Given the description of an element on the screen output the (x, y) to click on. 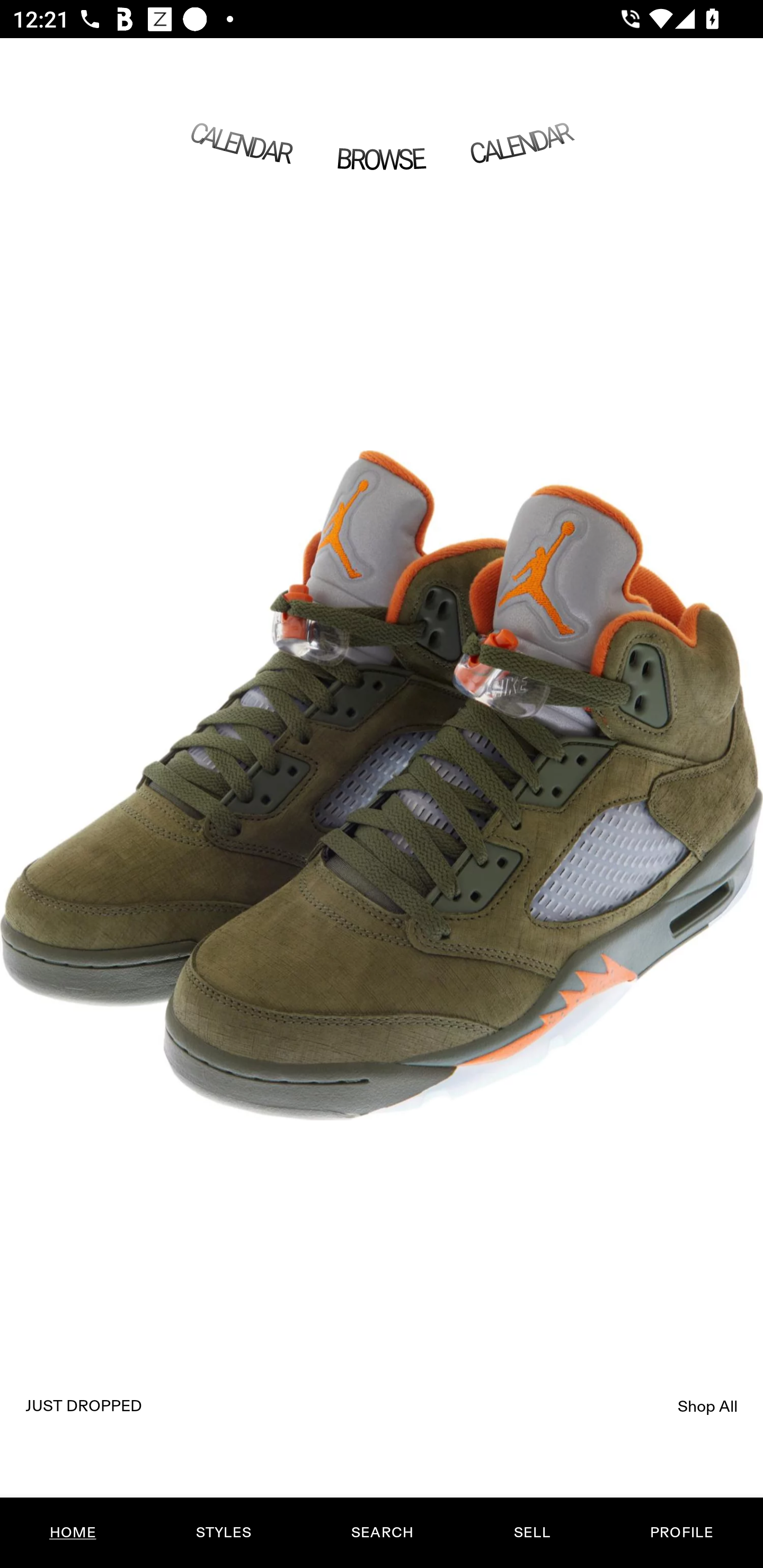
Shop All (707, 1406)
HOME (72, 1532)
STYLES (222, 1532)
SEARCH (381, 1532)
SELL (531, 1532)
PROFILE (681, 1532)
